Given the description of an element on the screen output the (x, y) to click on. 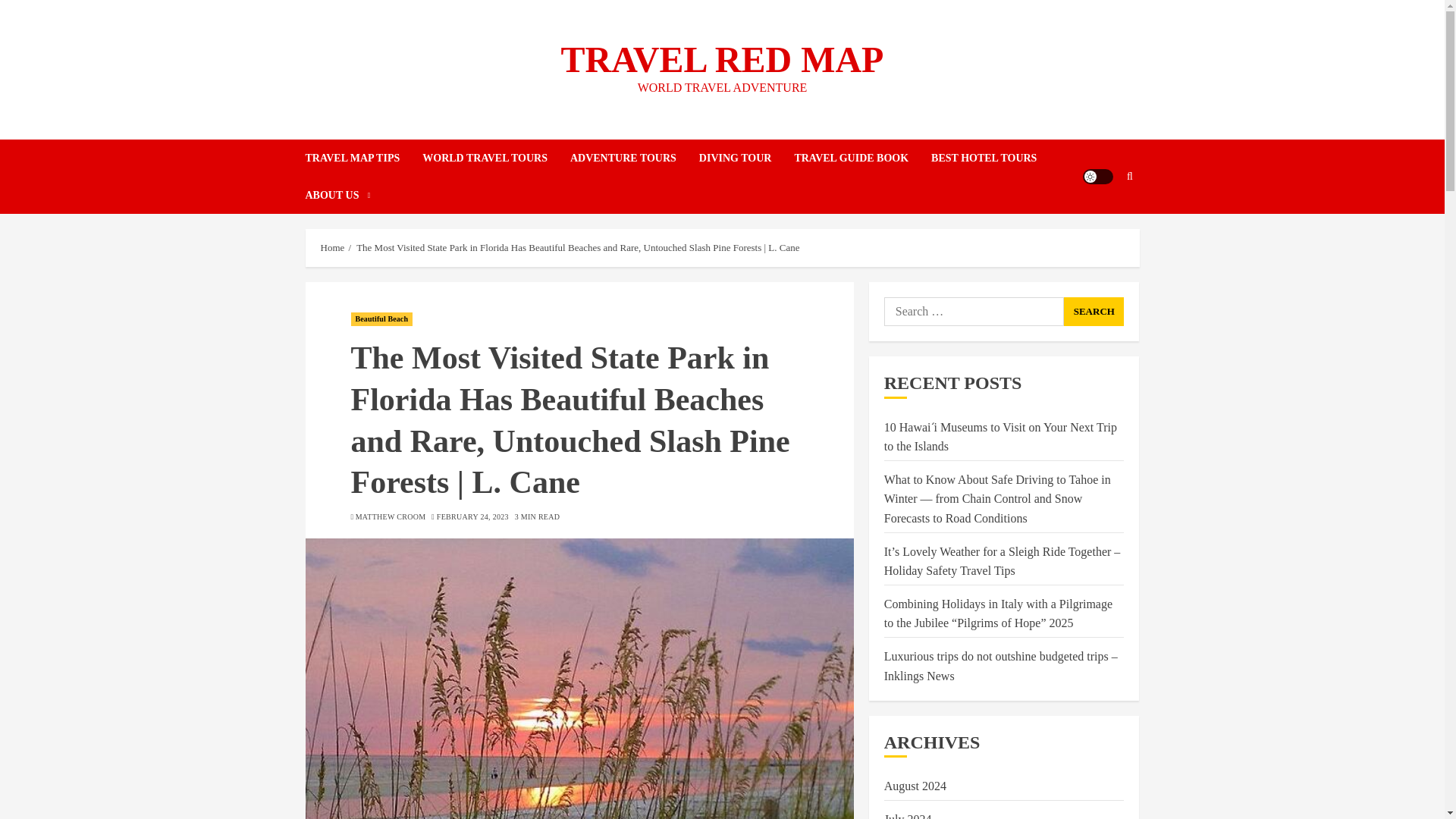
FEBRUARY 24, 2023 (472, 516)
Home (331, 247)
BEST HOTEL TOURS (995, 157)
ADVENTURE TOURS (634, 157)
TRAVEL RED MAP (721, 59)
ABOUT US (336, 194)
MATTHEW CROOM (390, 516)
Beautiful Beach (381, 318)
Search (1094, 311)
WORLD TRAVEL TOURS (496, 157)
Search (1099, 222)
Search (1094, 311)
TRAVEL MAP TIPS (363, 157)
DIVING TOUR (746, 157)
TRAVEL GUIDE BOOK (862, 157)
